Given the description of an element on the screen output the (x, y) to click on. 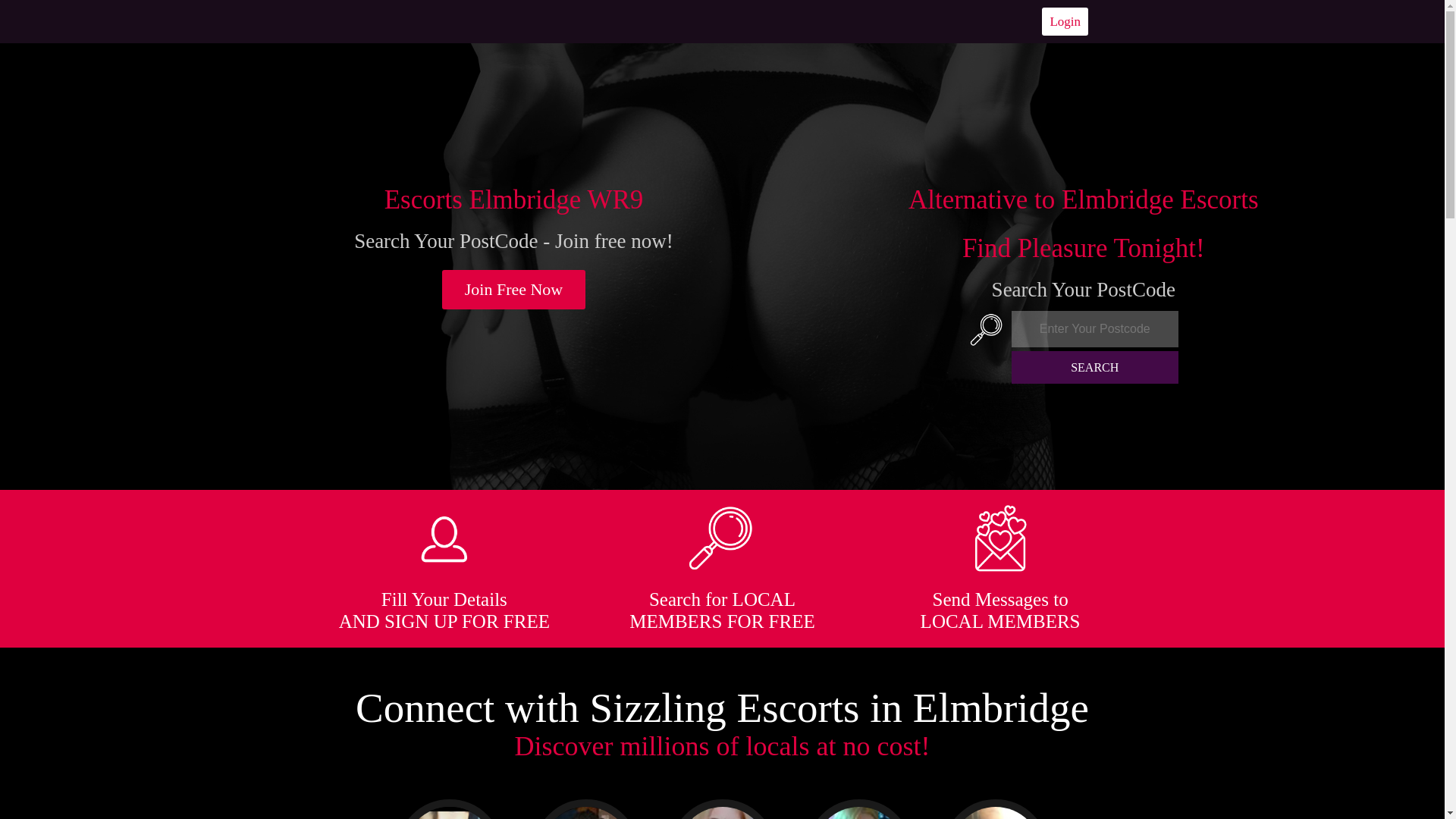
Login (1064, 21)
SEARCH (1094, 367)
Login (1064, 21)
Join (514, 289)
Join Free Now (514, 289)
